Given the description of an element on the screen output the (x, y) to click on. 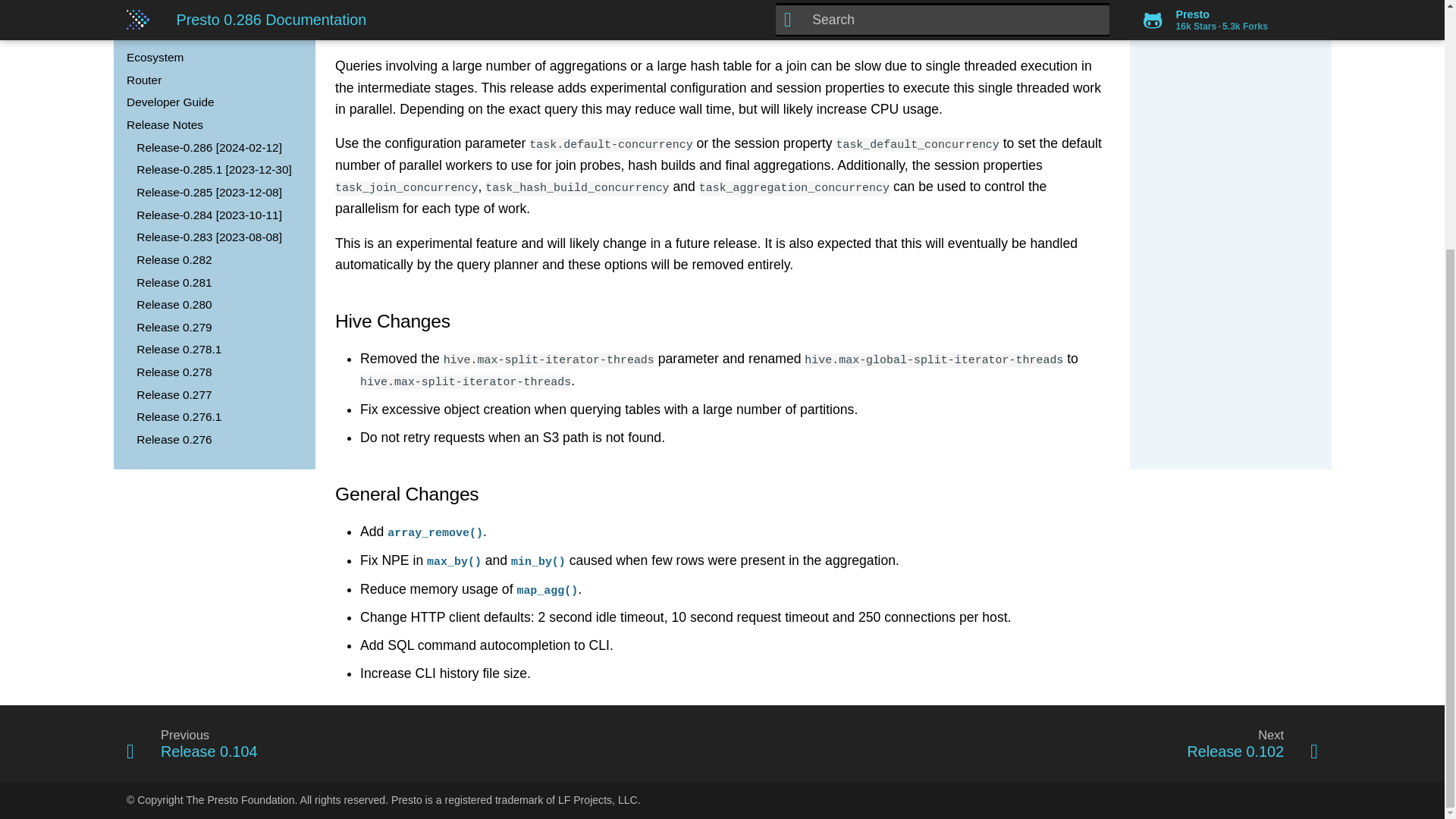
Migration (212, 12)
Release 0.102 (1024, 743)
Release 0.278 (217, 372)
Developer Guide (212, 102)
Ecosystem (212, 57)
Release 0.279 (217, 327)
Release 0.280 (217, 304)
Release 0.276.1 (217, 417)
Release 0.281 (217, 282)
Release 0.104 (419, 743)
